Given the description of an element on the screen output the (x, y) to click on. 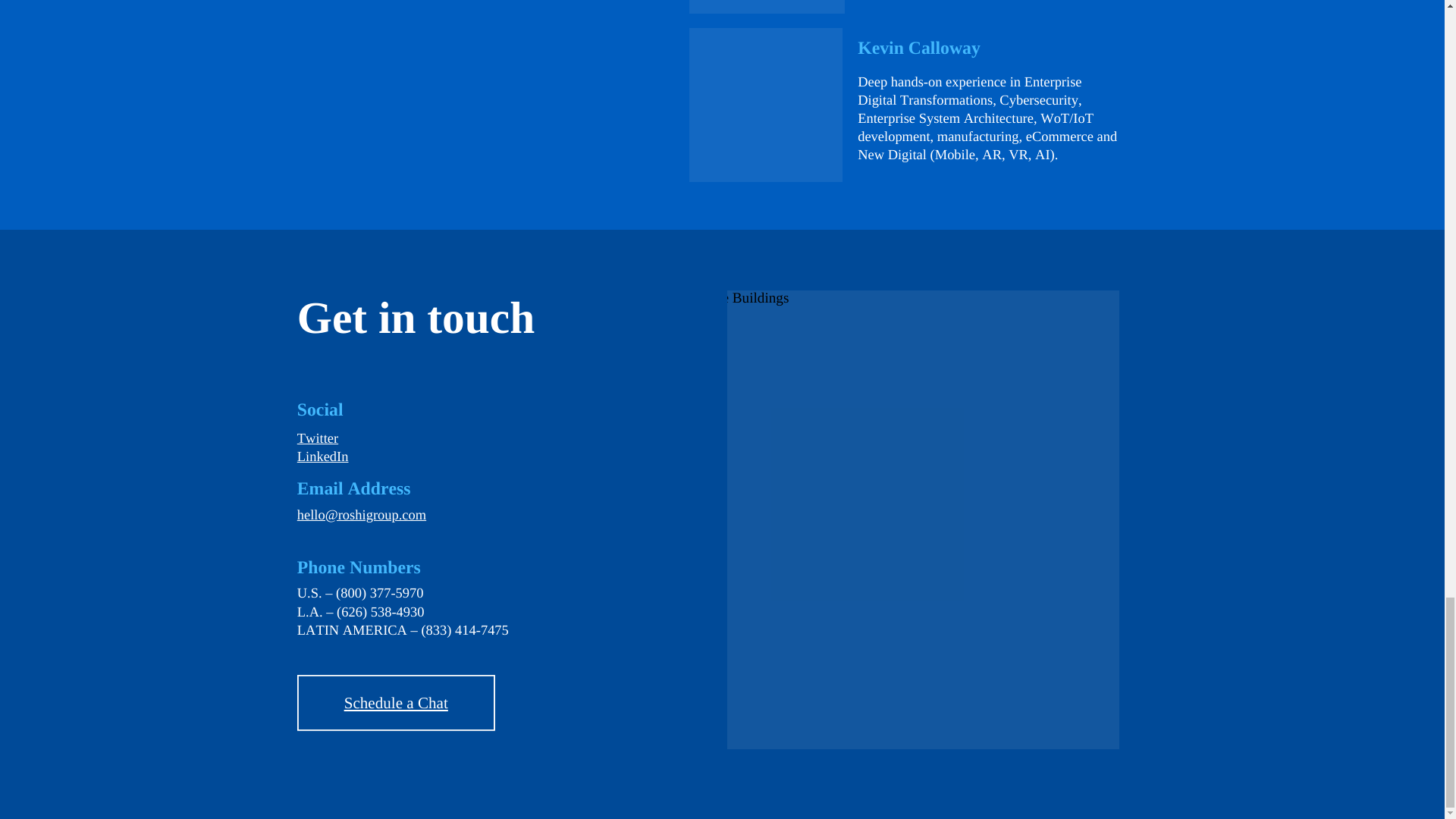
Twitter (317, 437)
LinkedIn (323, 456)
Schedule a Chat (395, 702)
